Given the description of an element on the screen output the (x, y) to click on. 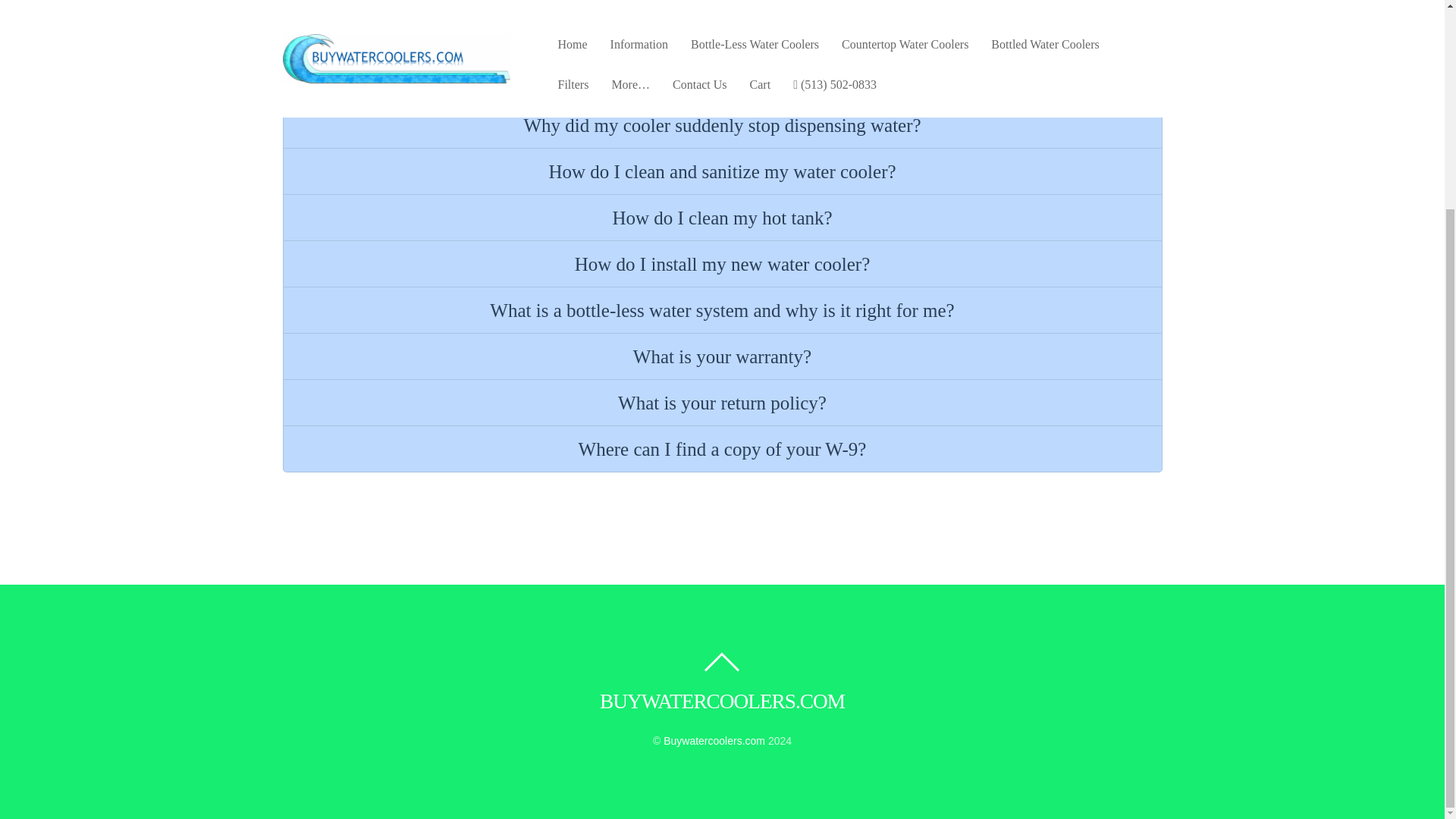
Buywatercoolers.com (721, 701)
